Given the description of an element on the screen output the (x, y) to click on. 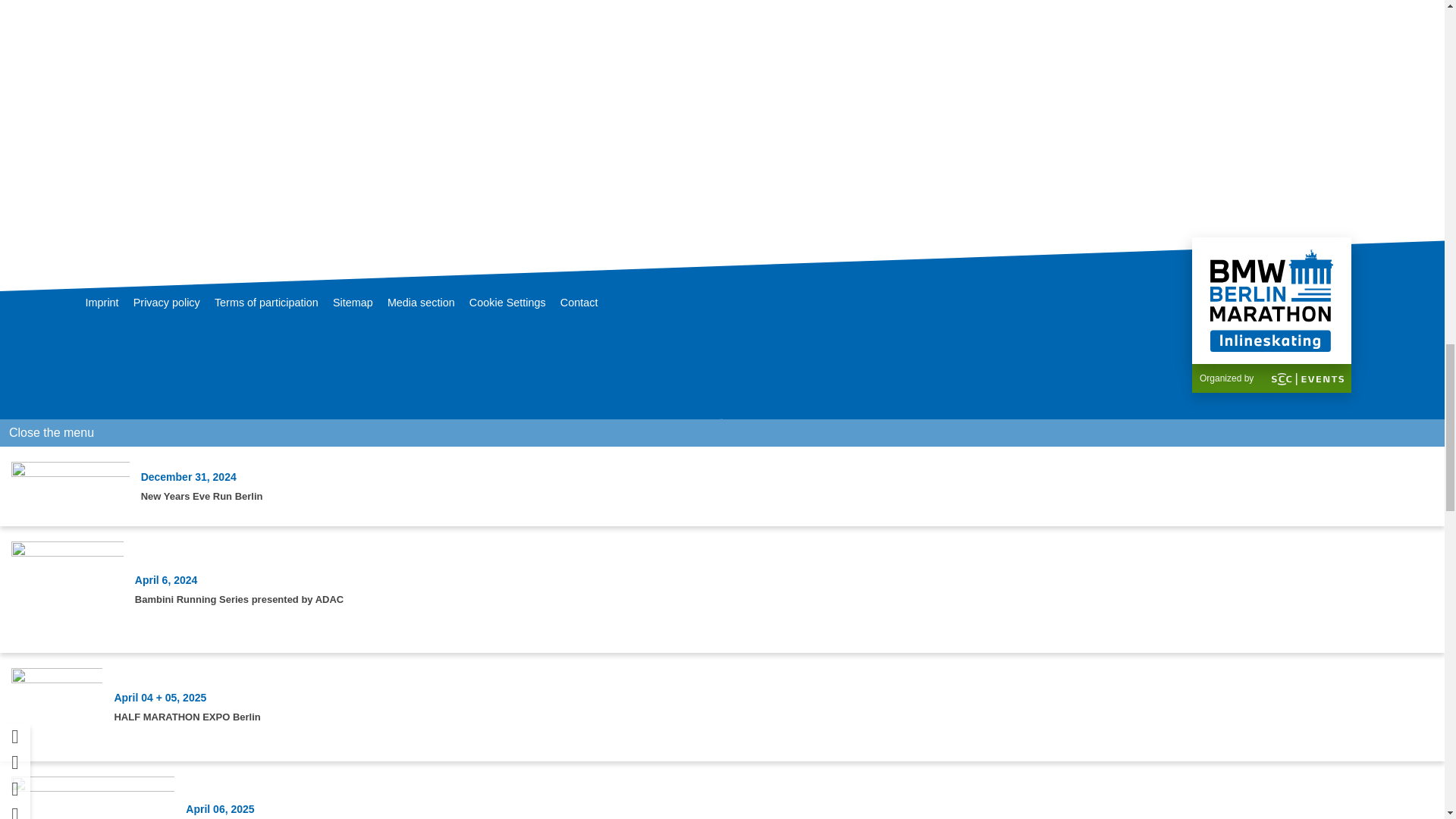
skating.bmw-berlin-marathon.com (1271, 299)
